Given the description of an element on the screen output the (x, y) to click on. 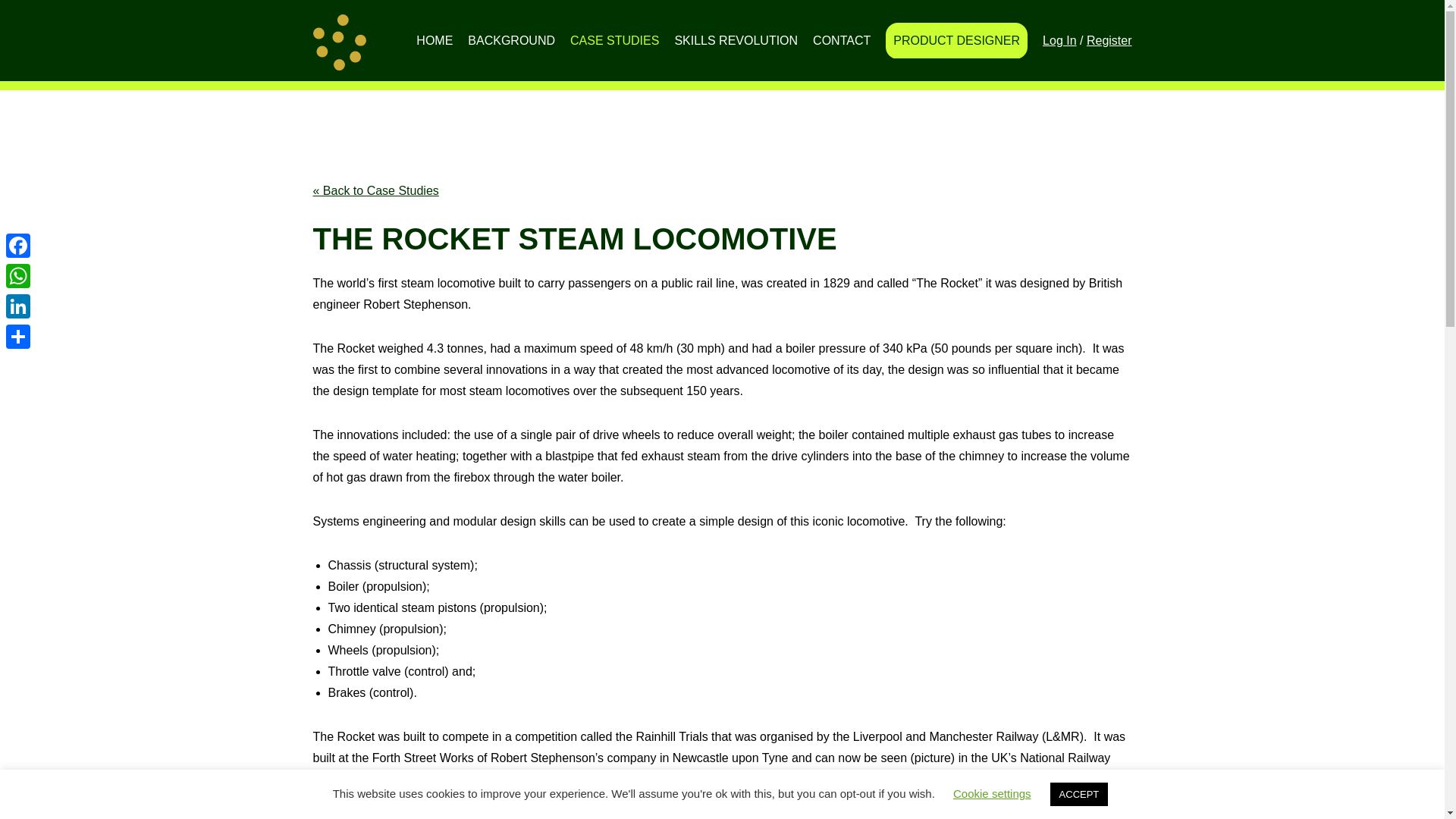
Facebook (17, 245)
LinkedIn (17, 306)
Log In (1058, 39)
CASE STUDIES (614, 40)
CONTACT (841, 40)
Register (1109, 39)
Cookie settings (991, 793)
Facebook (17, 245)
WhatsApp (17, 276)
BACKGROUND (511, 40)
SKILLS REVOLUTION (735, 40)
HOME (434, 40)
WhatsApp (17, 276)
PRODUCT DESIGNER (956, 40)
LinkedIn (17, 306)
